Given the description of an element on the screen output the (x, y) to click on. 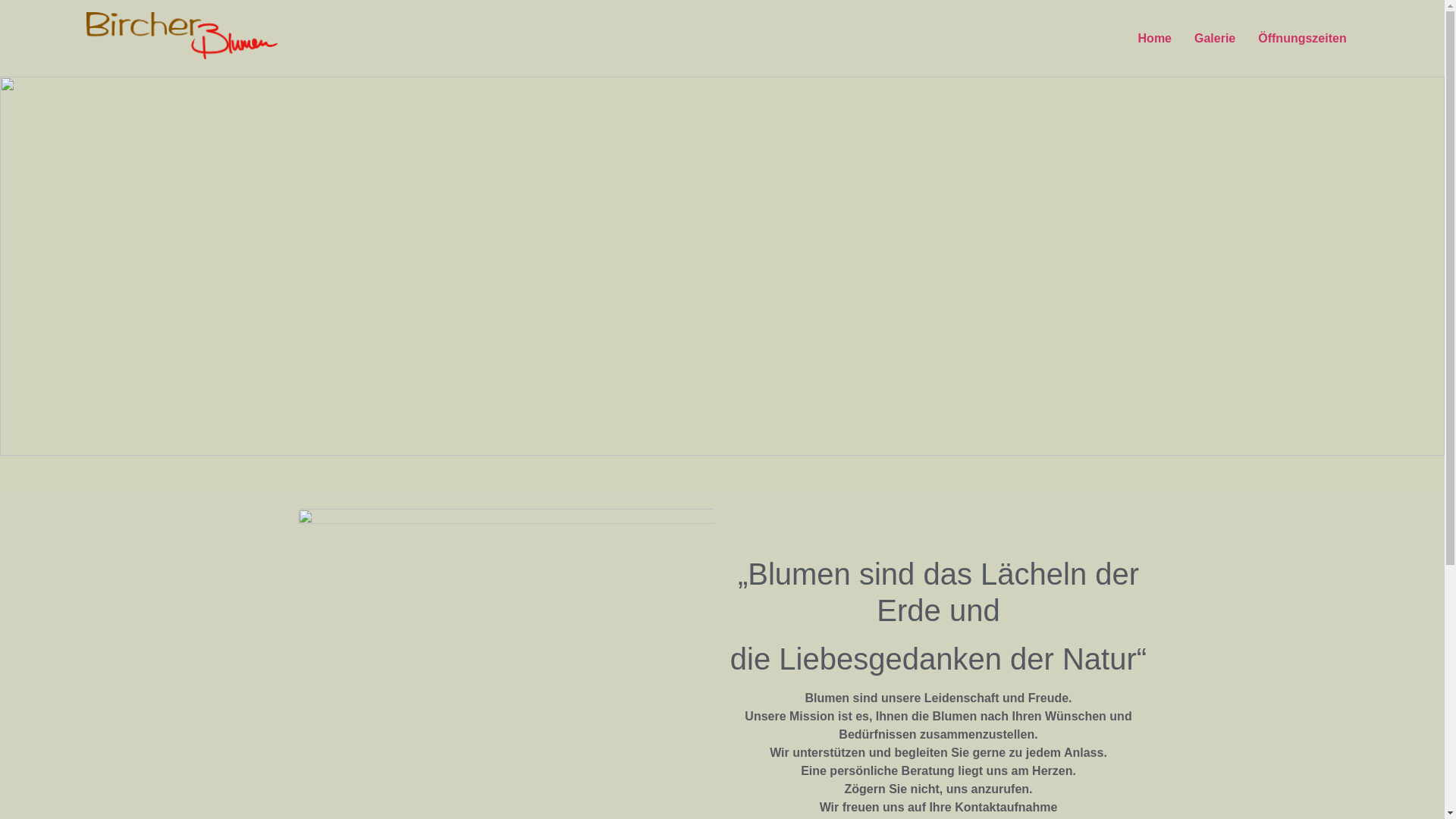
Home Element type: text (722, 100)
Galerie Element type: text (1214, 38)
Home Element type: text (1154, 38)
